Given the description of an element on the screen output the (x, y) to click on. 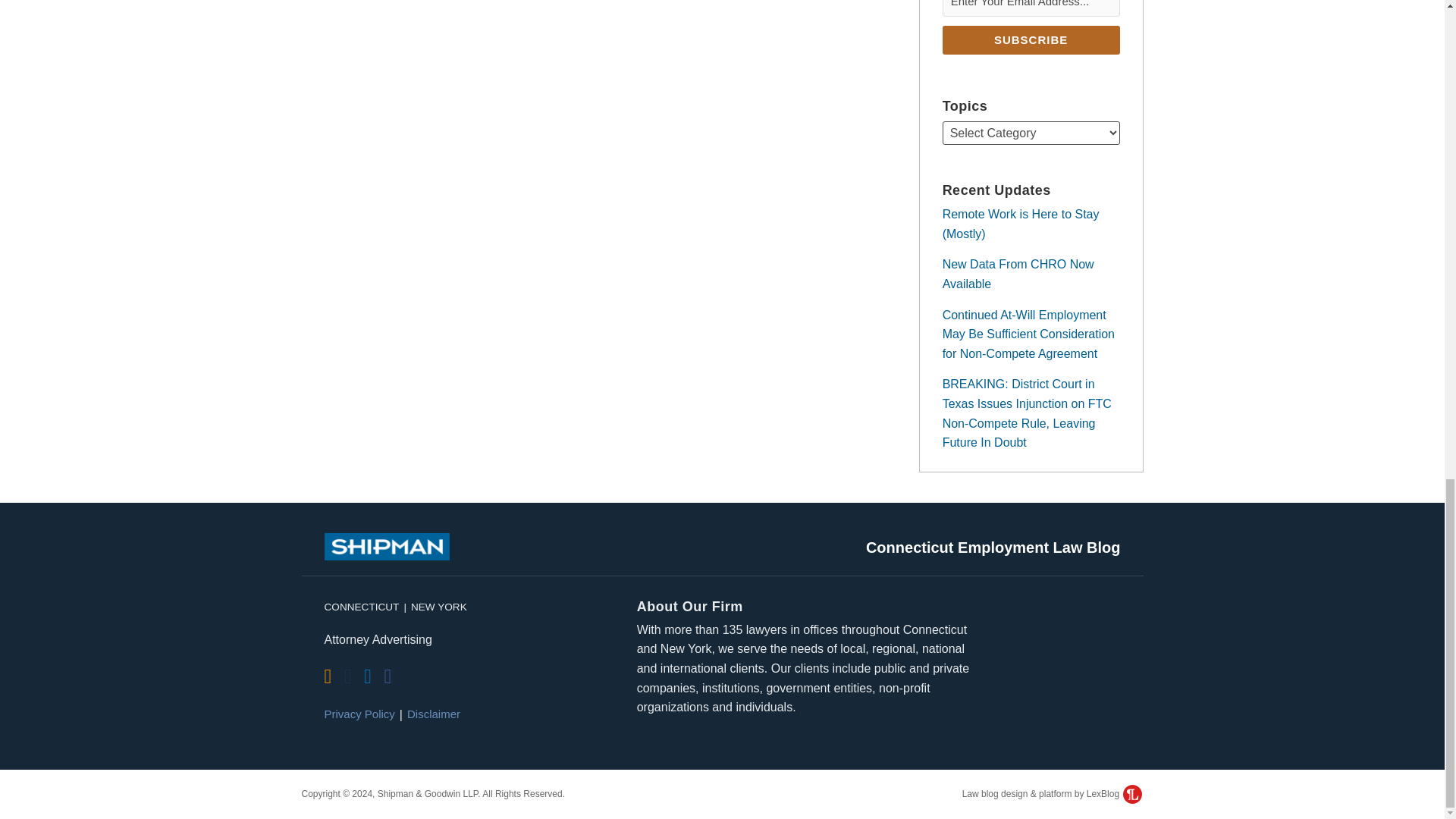
Disclaimer (433, 714)
Subscribe (1030, 39)
Privacy Policy (359, 714)
New Data From CHRO Now Available (1018, 273)
Subscribe (1030, 39)
Connecticut Employment Law Blog (993, 547)
LexBlog Logo (1131, 793)
